Given the description of an element on the screen output the (x, y) to click on. 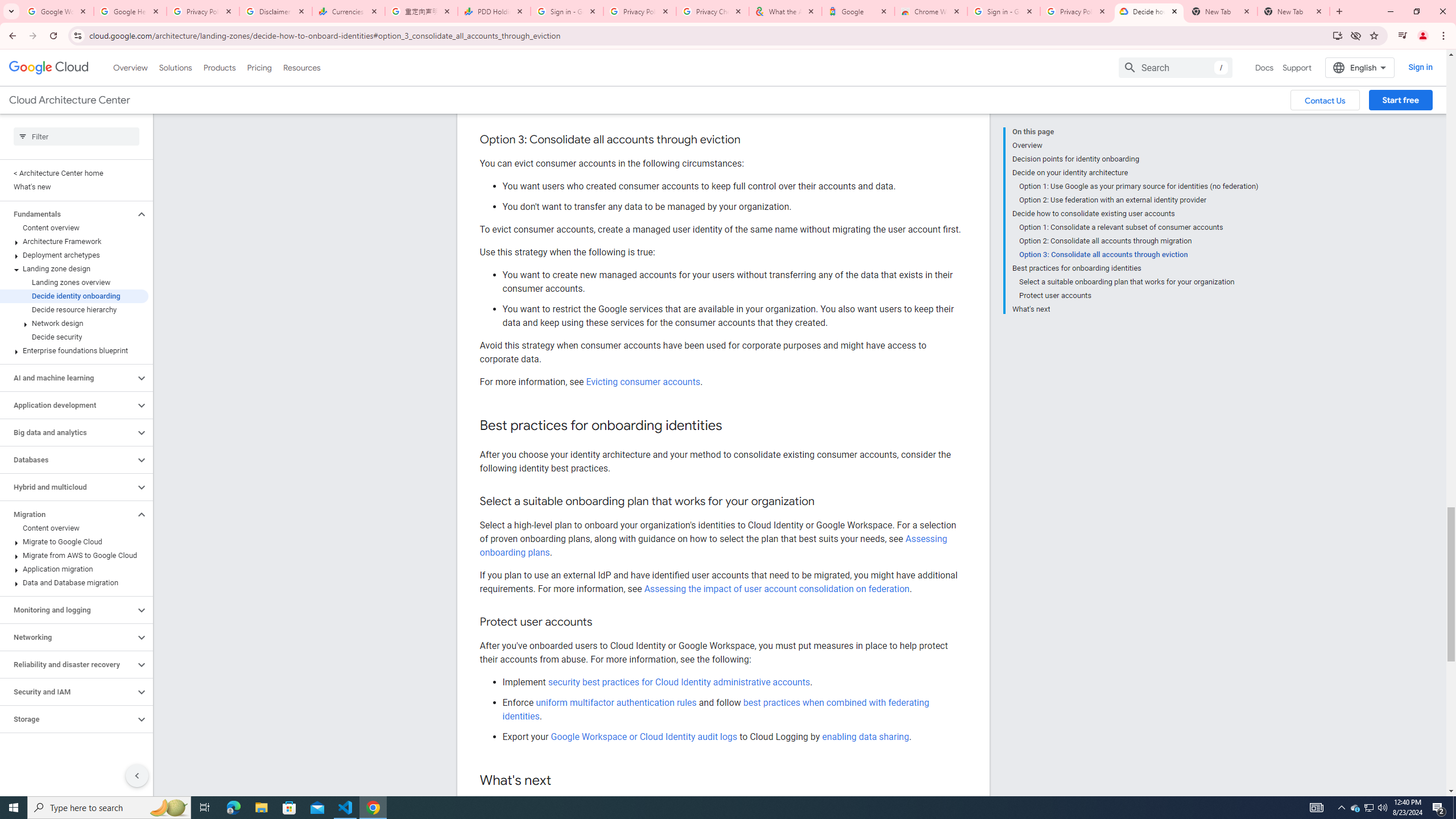
Pricing (259, 67)
Migrate to Google Cloud (74, 541)
Google Workspace Admin Community (57, 11)
Migrate from AWS to Google Cloud (74, 555)
Decision points for identity onboarding (1134, 159)
Data and Database migration (74, 582)
English (1359, 67)
